Given the description of an element on the screen output the (x, y) to click on. 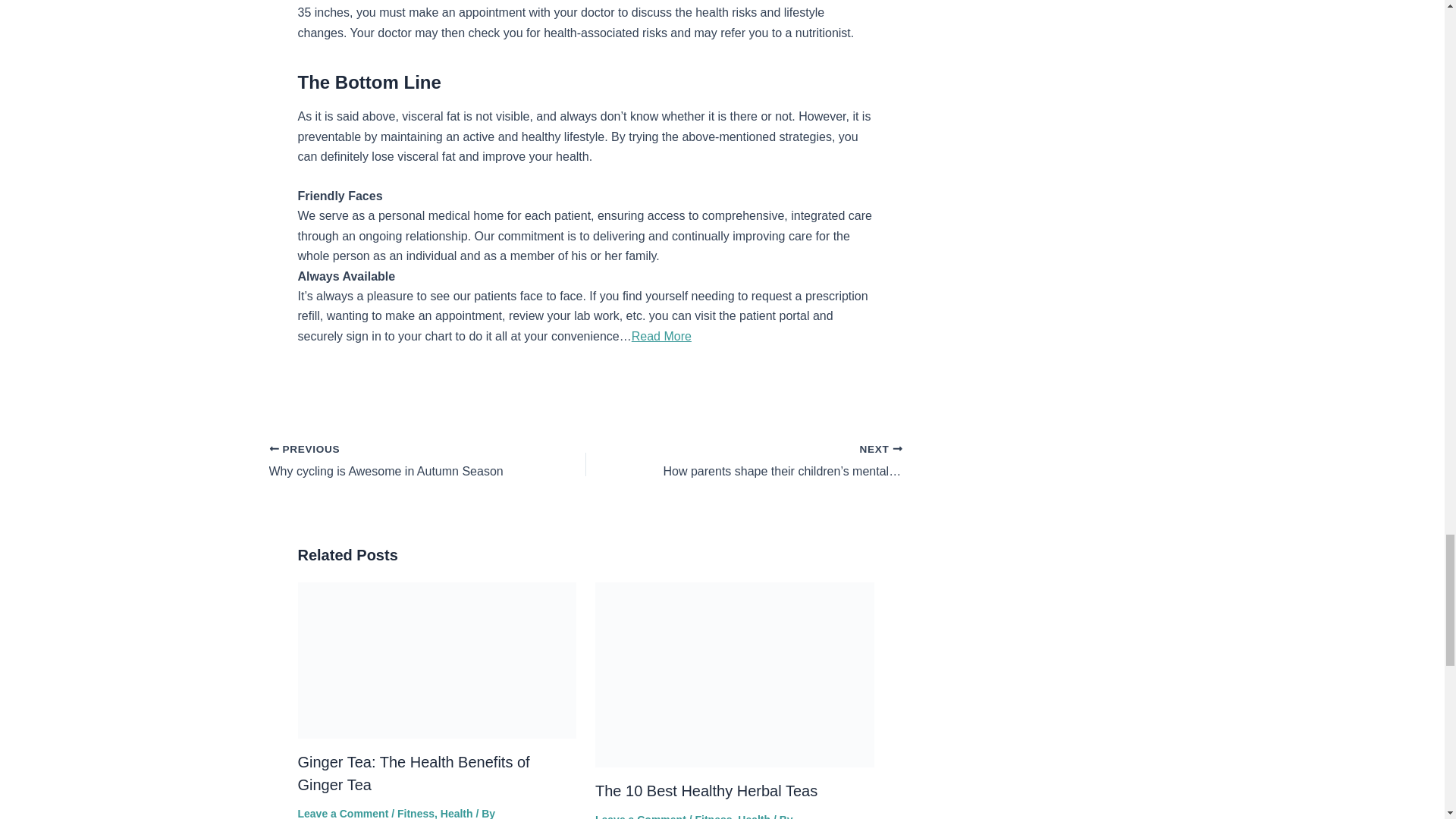
Leave a Comment (342, 813)
Ginger Tea: The Health Benefits of Ginger Tea (413, 773)
Health (457, 813)
How parents shape their children's mental health (774, 461)
Leave a Comment (394, 461)
The 10 Best Healthy Herbal Teas (640, 816)
Fitness (705, 790)
Why cycling is Awesome in Autumn Season (415, 813)
Read More (394, 461)
